Given the description of an element on the screen output the (x, y) to click on. 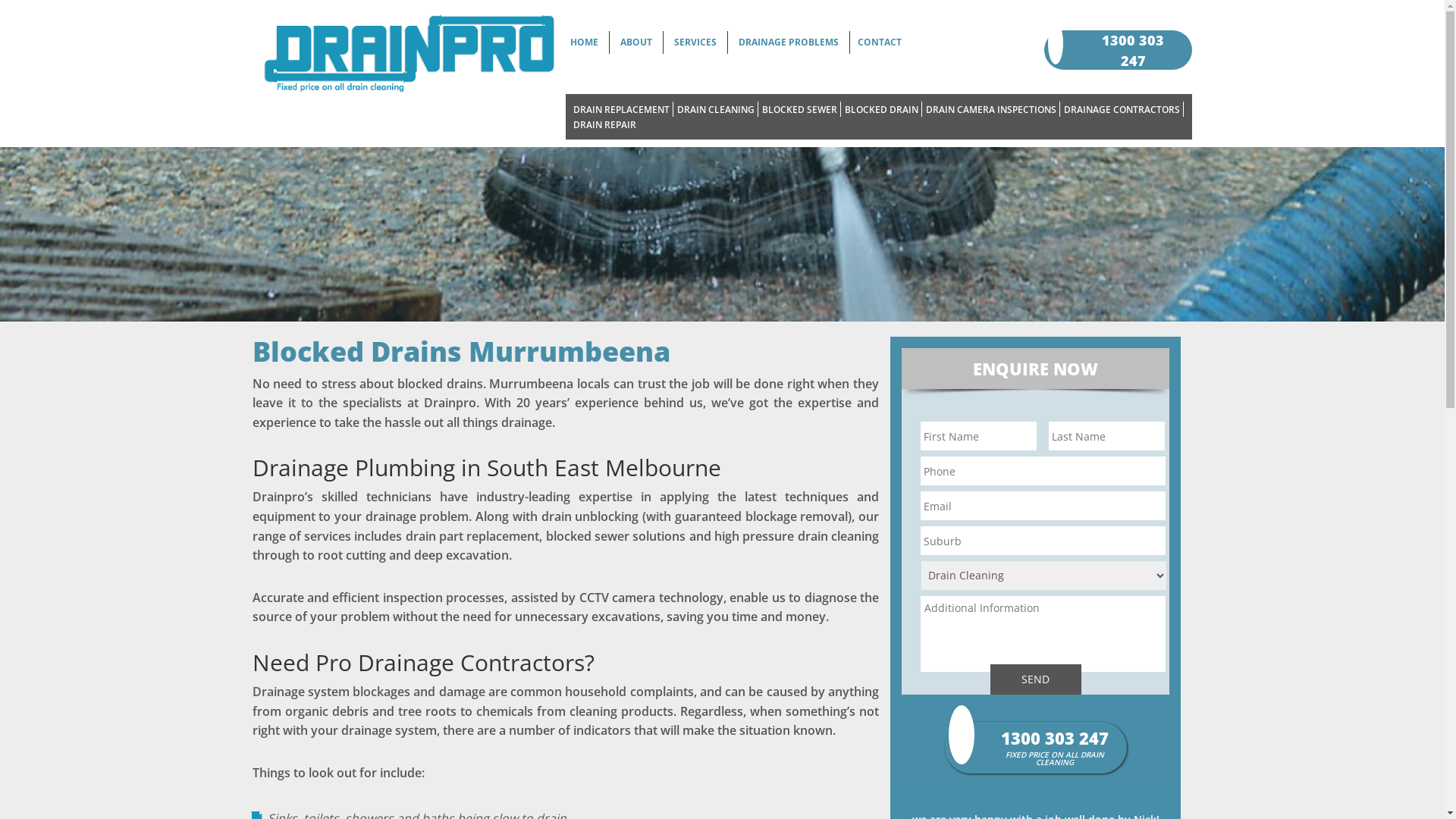
1300 303 247
FIXED PRICE ON ALL DRAIN CLEANING Element type: text (1136, 58)
DRAIN REPLACEMENT Element type: text (621, 109)
HOME Element type: text (583, 42)
DRAIN REPAIR Element type: text (604, 124)
DRAIN CAMERA INSPECTIONS Element type: text (991, 109)
SERVICES Element type: text (695, 42)
DRAINAGE CONTRACTORS Element type: text (1121, 109)
1300 303 247
FIXED PRICE ON ALL DRAIN CLEANING Element type: text (1058, 743)
BLOCKED DRAIN Element type: text (881, 109)
DRAINAGE PROBLEMS Element type: text (788, 42)
ABOUT Element type: text (635, 42)
DRAIN CLEANING Element type: text (715, 109)
CONTACT Element type: text (879, 42)
BLOCKED SEWER Element type: text (799, 109)
Send Element type: text (1035, 679)
